Given the description of an element on the screen output the (x, y) to click on. 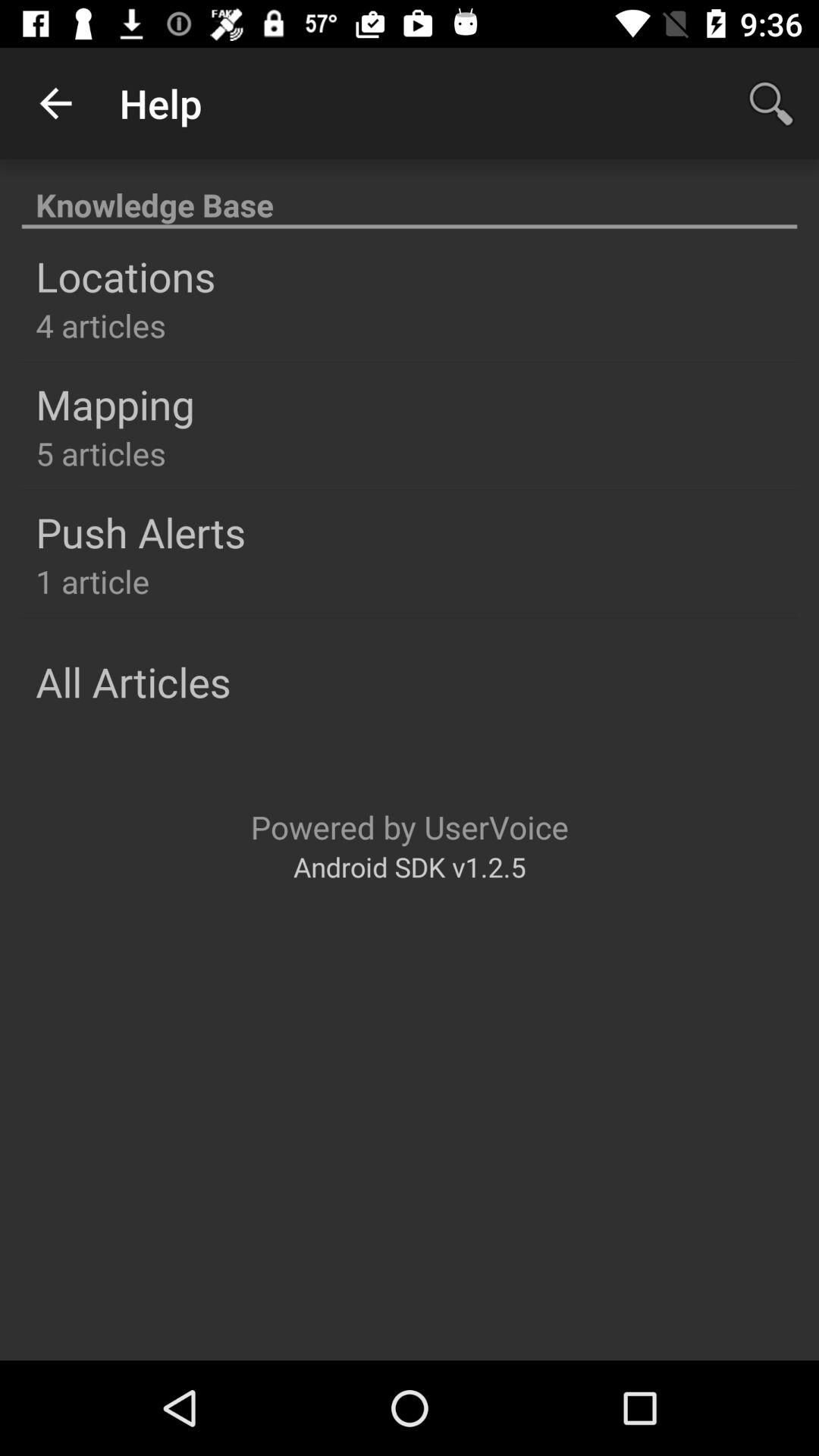
turn off the item above 1 article (140, 531)
